Given the description of an element on the screen output the (x, y) to click on. 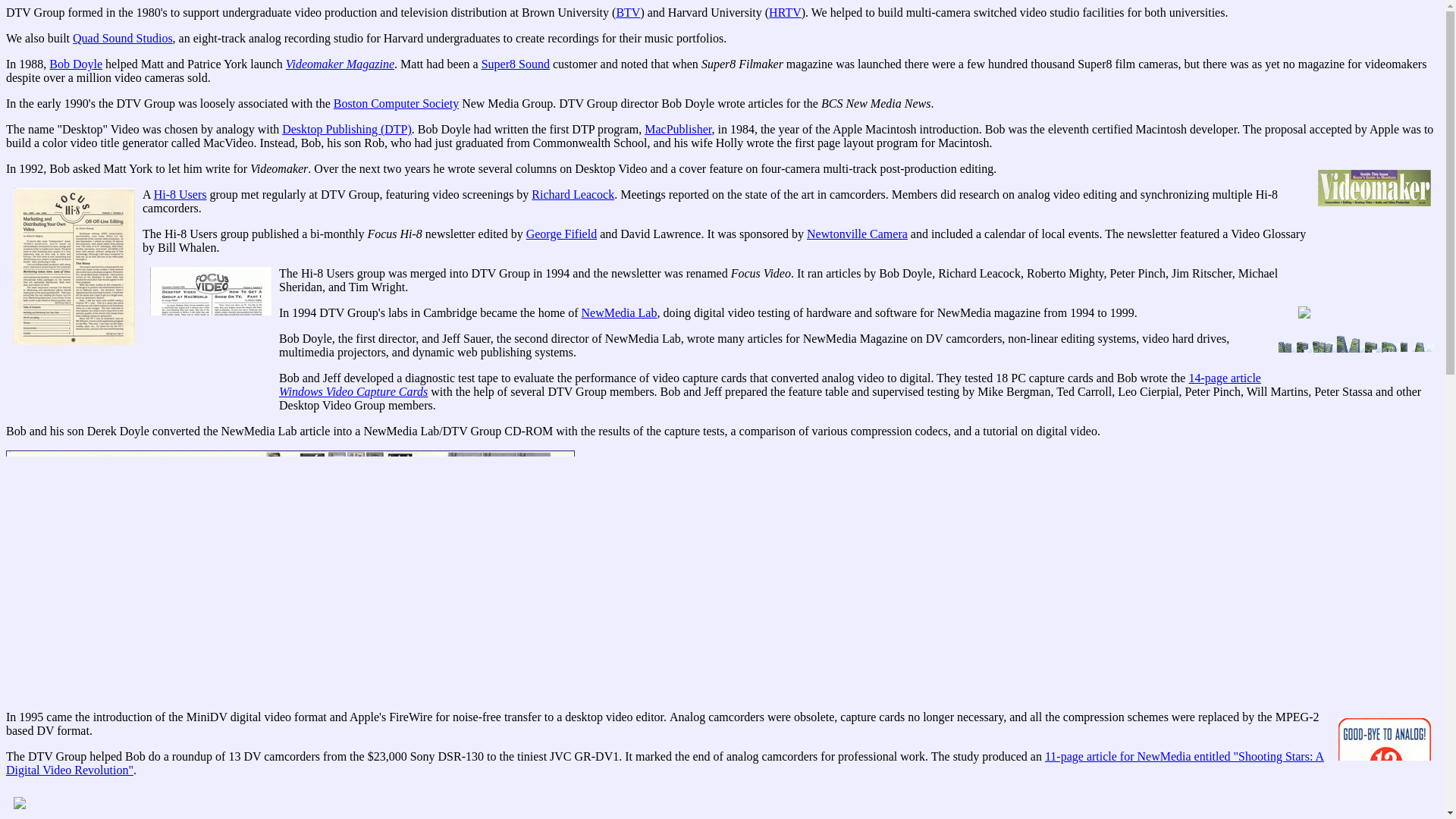
NewMedia article - Windows Video Capture Cards (769, 384)
Hi-8 Users (180, 194)
NewMedia article - Windows Video Capture Cards (290, 572)
HRTV (785, 11)
MacPublisher (678, 128)
George Fifield (560, 233)
Bob Doyle (75, 63)
Quad Sound Studios (122, 38)
Richard Leacock (572, 194)
Super8 Sound (515, 63)
Boston Computer Society (395, 103)
BTV (627, 11)
Newtonville Camera (856, 233)
